Given the description of an element on the screen output the (x, y) to click on. 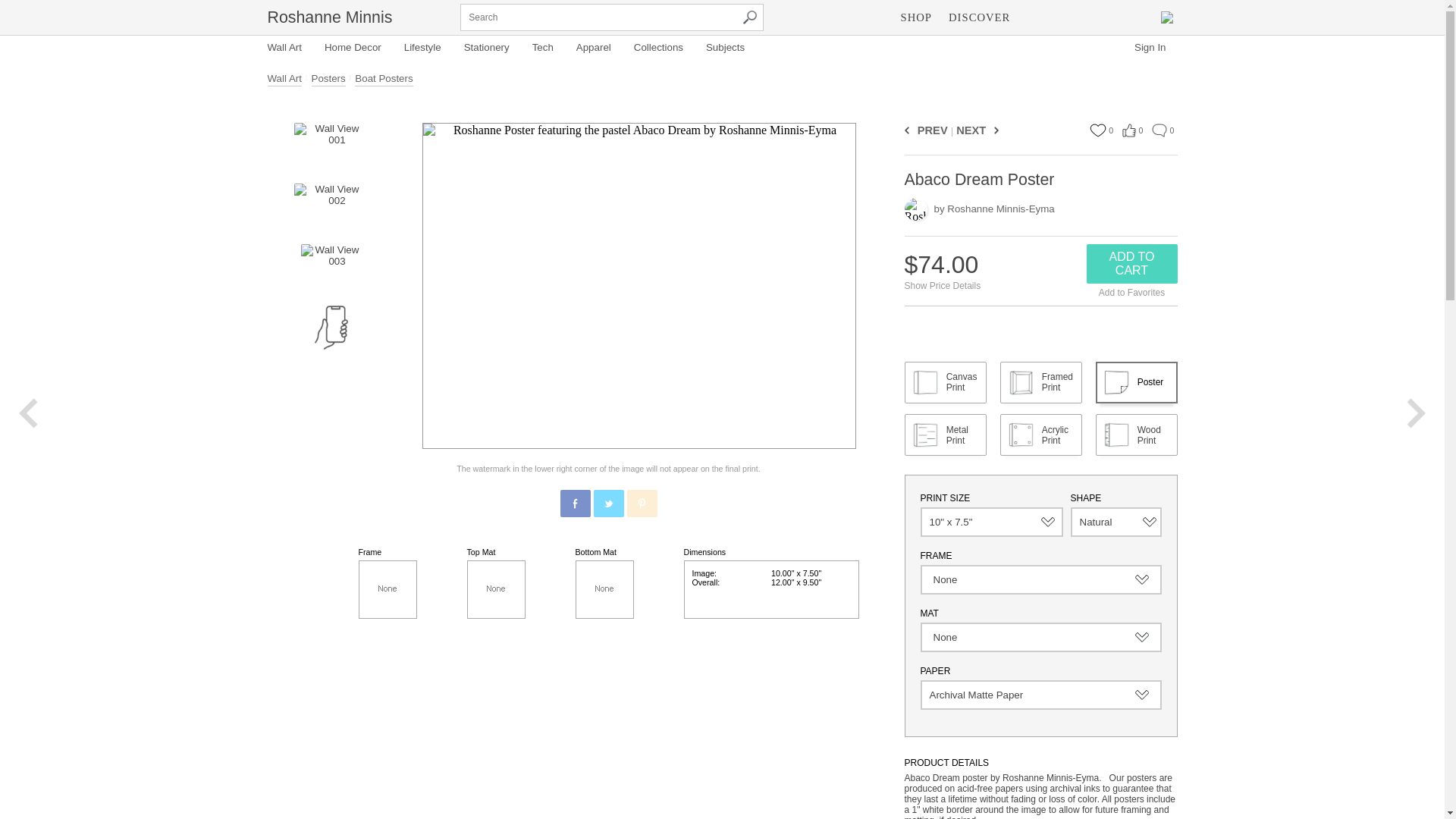
Twitter (609, 502)
Top Mat (496, 589)
SHOP (916, 16)
Favorite (1097, 130)
Wall View 002 (330, 206)
DISCOVER (979, 16)
Launch Mobile App (330, 327)
Share Product on Twitter (607, 502)
Facebook (575, 502)
Wall View 001 (330, 145)
